Given the description of an element on the screen output the (x, y) to click on. 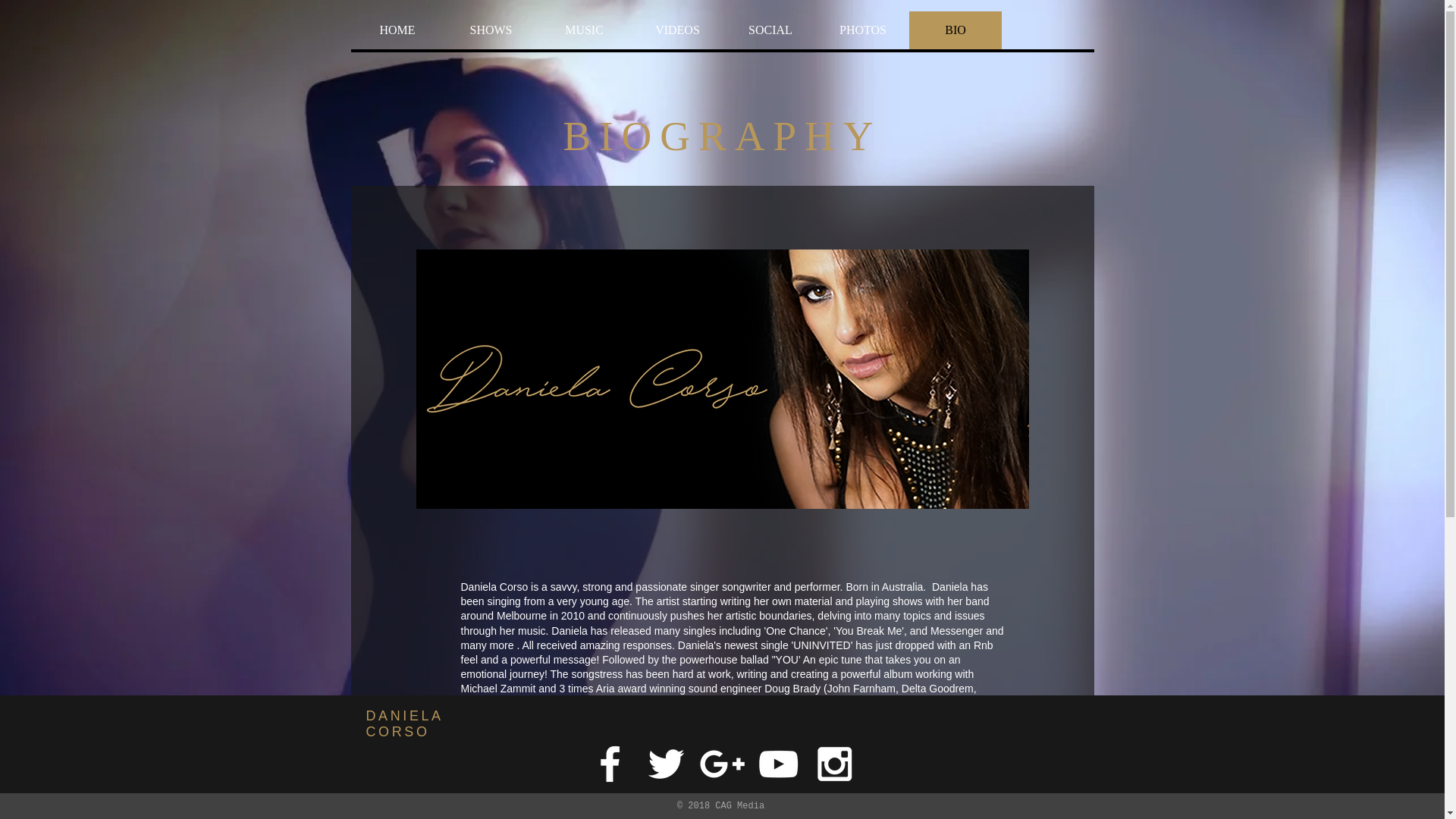
SOCIAL (769, 30)
HOME (397, 30)
PHOTOS (861, 30)
SHOWS (490, 30)
BIO (954, 30)
MUSIC (583, 30)
VIDEOS (676, 30)
DANIELA     CORSO (416, 723)
